Given the description of an element on the screen output the (x, y) to click on. 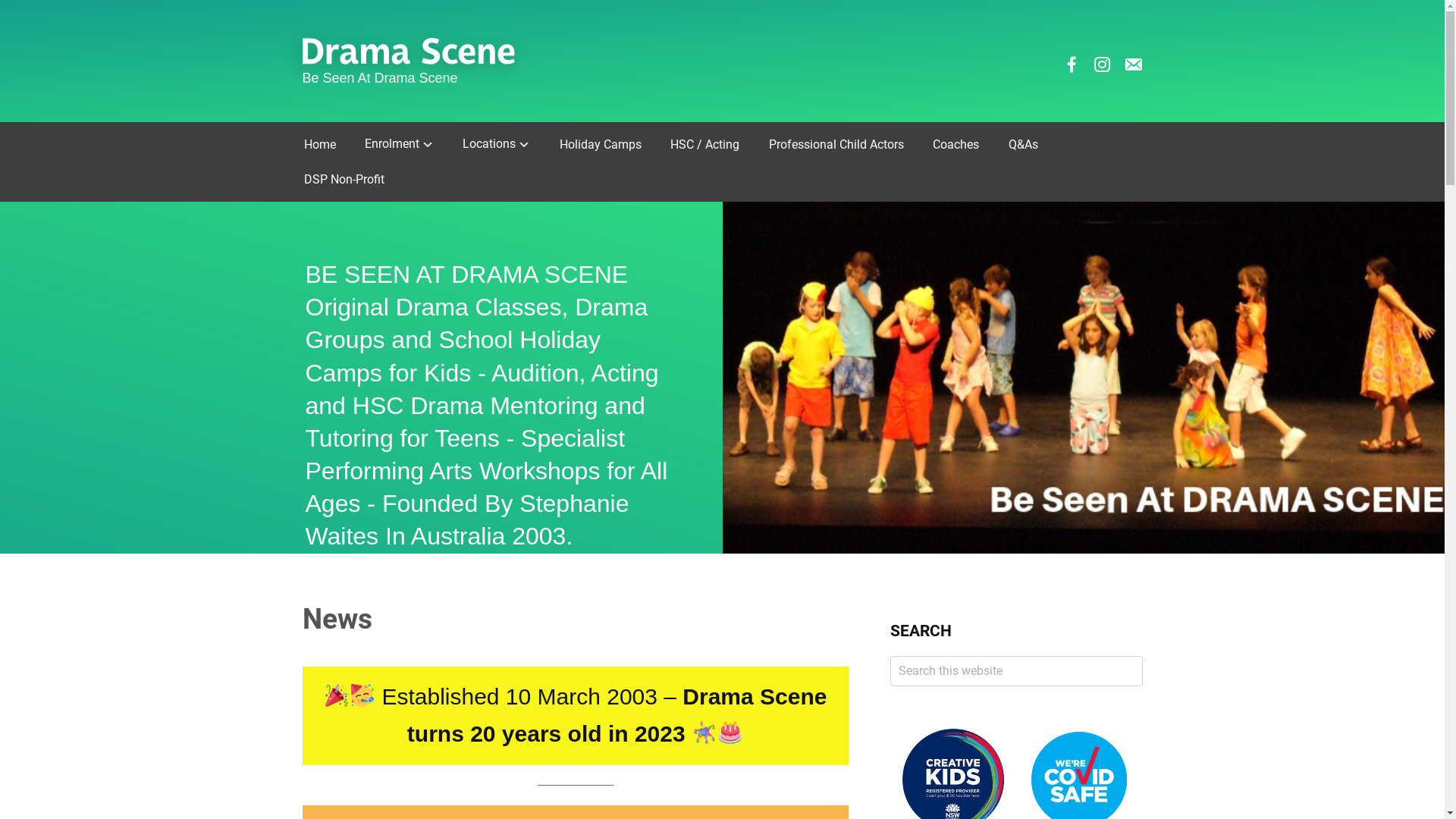
HSC / Acting Element type: text (715, 144)
Search Element type: text (1142, 655)
Q&As Element type: text (1034, 144)
Enrolment Element type: text (410, 144)
Home Element type: text (330, 144)
DSP Non-Profit Element type: text (354, 179)
Holiday Camps Element type: text (611, 144)
Professional Child Actors Element type: text (847, 144)
Locations Element type: text (507, 144)
Skip to primary navigation Element type: text (0, 0)
Coaches Element type: text (967, 144)
